Given the description of an element on the screen output the (x, y) to click on. 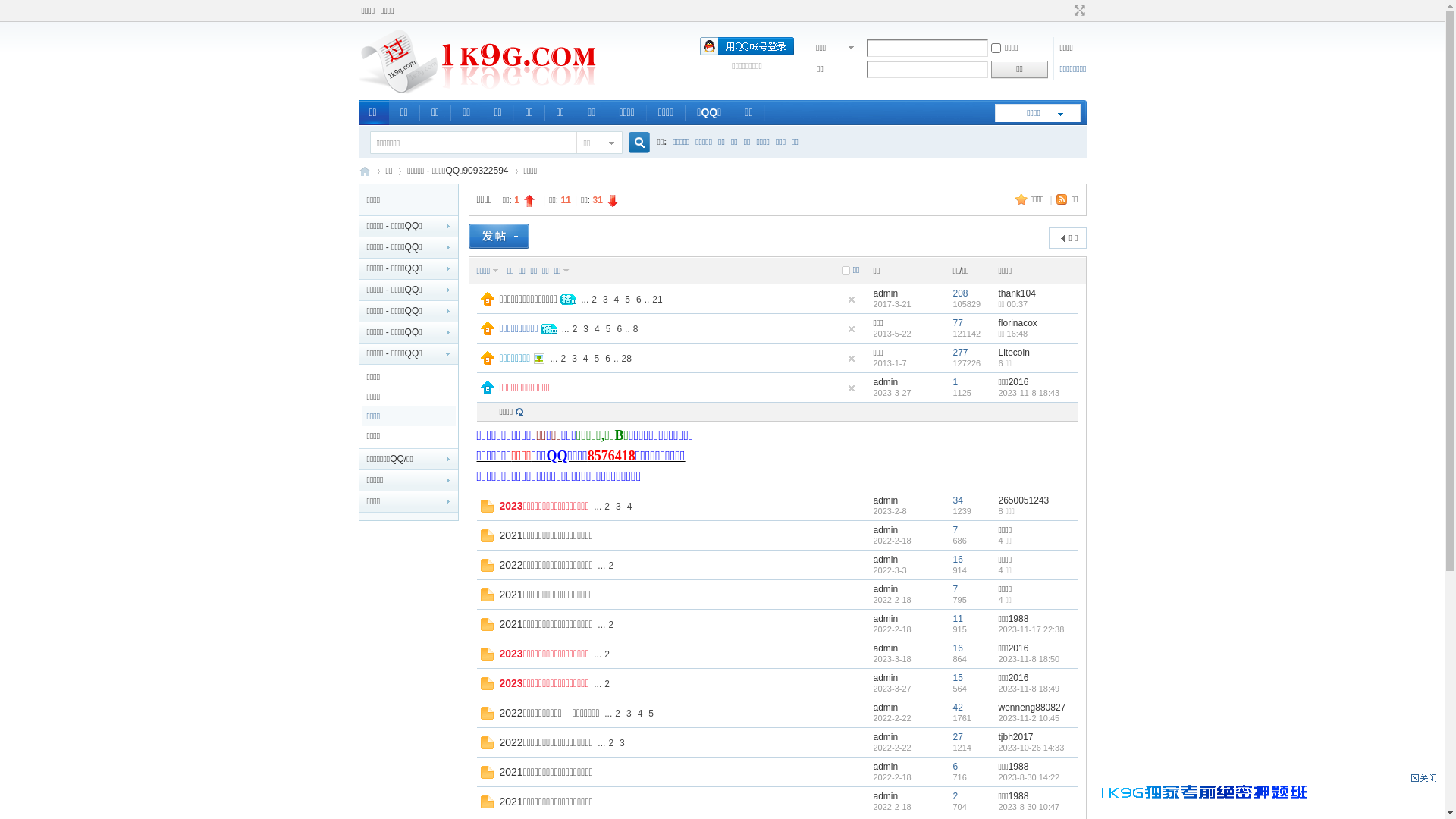
admin Element type: text (885, 381)
5 Element type: text (627, 299)
2 Element type: text (610, 623)
6 Element type: text (954, 766)
3 Element type: text (574, 358)
208 Element type: text (959, 293)
2023-11-8 18:49 Element type: text (1028, 688)
admin Element type: text (885, 618)
florinacox Element type: text (1016, 322)
6 Element type: text (618, 328)
admin Element type: text (885, 500)
21 Element type: text (657, 299)
admin Element type: text (885, 736)
2 Element type: text (610, 564)
3 Element type: text (618, 505)
admin Element type: text (885, 766)
2 Element type: text (593, 299)
admin Element type: text (885, 588)
3 Element type: text (605, 299)
2 Element type: text (562, 358)
admin Element type: text (885, 293)
admin Element type: text (885, 677)
2 Element type: text (610, 742)
tjbh2017 Element type: text (1014, 736)
15 Element type: text (957, 677)
7 Element type: text (954, 529)
16 Element type: text (957, 648)
2023-11-8 18:50 Element type: text (1028, 658)
28 Element type: text (626, 358)
2023-11-2 10:45 Element type: text (1028, 717)
2023-8-30 14:22 Element type: text (1028, 776)
4 Element type: text (640, 713)
6 Element type: text (638, 299)
2 Element type: text (606, 505)
admin Element type: text (885, 795)
admin Element type: text (885, 707)
7 Element type: text (954, 588)
3 Element type: text (585, 328)
admin Element type: text (885, 648)
1 Element type: text (954, 381)
4 Element type: text (629, 505)
4 Element type: text (585, 358)
5 Element type: text (650, 713)
2 Element type: text (617, 713)
2023-10-26 14:33 Element type: text (1030, 747)
2 Element type: text (606, 683)
2650051243 Element type: text (1022, 500)
16 Element type: text (957, 559)
admin Element type: text (885, 529)
2023-11-17 22:38 Element type: text (1030, 628)
3 Element type: text (621, 742)
3 Element type: text (628, 713)
2 Element type: text (954, 795)
27 Element type: text (957, 736)
4 Element type: text (596, 328)
34 Element type: text (957, 500)
5 Element type: text (596, 358)
5 Element type: text (608, 328)
8 Element type: text (635, 328)
2023-11-8 18:43 Element type: text (1028, 392)
4 Element type: text (616, 299)
77 Element type: text (957, 322)
2 Element type: text (574, 328)
2 Element type: text (606, 654)
admin Element type: text (885, 559)
true Element type: text (632, 142)
11 Element type: text (957, 618)
6 Element type: text (607, 358)
277 Element type: text (959, 352)
thank104 Element type: text (1016, 293)
42 Element type: text (957, 707)
Litecoin Element type: text (1013, 352)
2023-8-30 10:47 Element type: text (1028, 806)
wenneng880827 Element type: text (1031, 707)
